Given the description of an element on the screen output the (x, y) to click on. 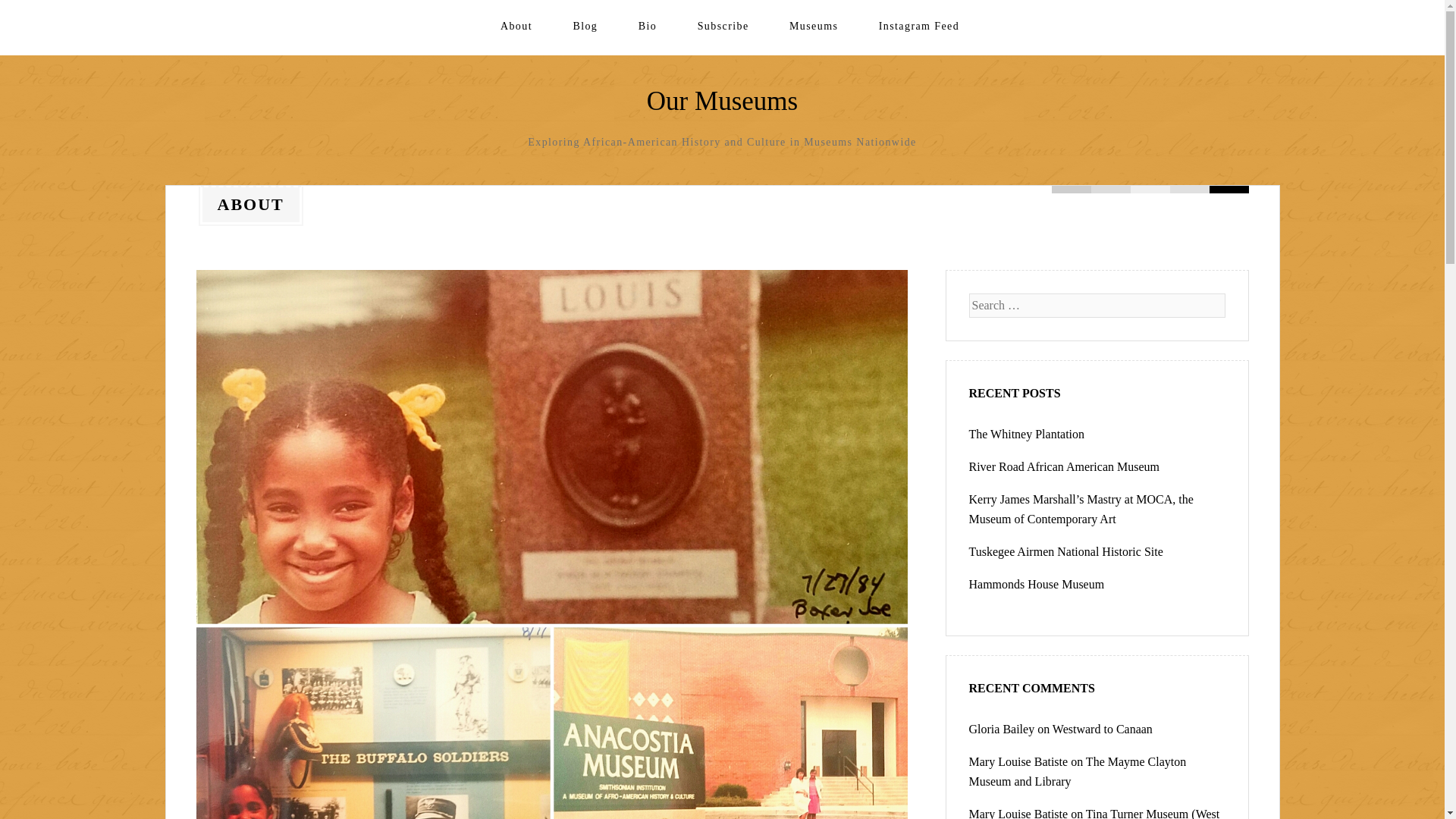
About (516, 26)
Museums (813, 26)
The Mayme Clayton Museum and Library (1077, 771)
River Road African American Museum (1064, 466)
Blog (584, 26)
Search (29, 14)
Westward to Canaan (1102, 728)
Our Museums (721, 101)
Bio (647, 26)
Instagram Feed (919, 26)
Hammonds House Museum (1037, 584)
Tuskegee Airmen National Historic Site (1066, 551)
The Whitney Plantation (1026, 433)
Subscribe (723, 26)
